Given the description of an element on the screen output the (x, y) to click on. 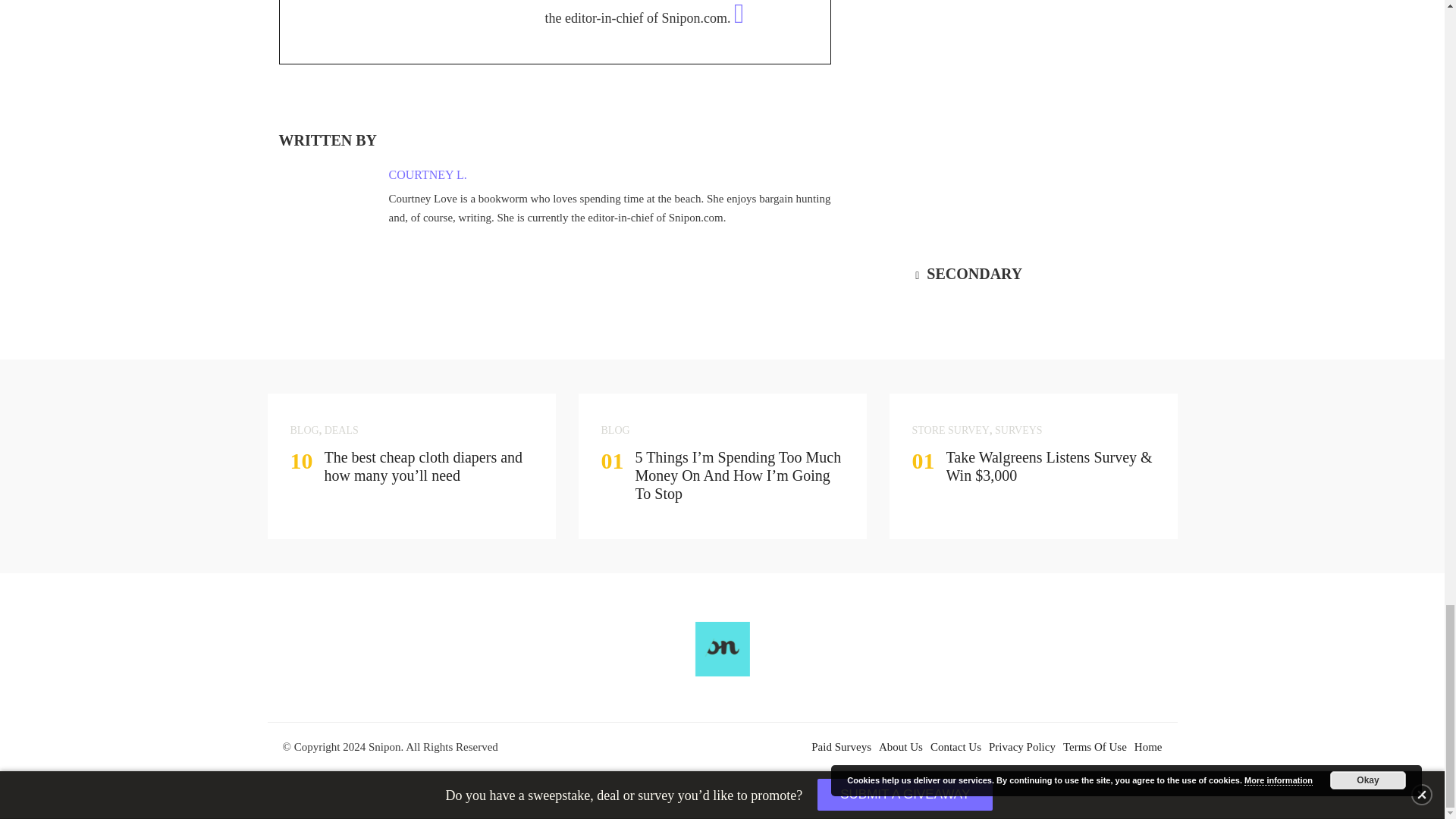
COURTNEY L. (426, 174)
Snipon (721, 656)
E-mail (741, 17)
